Given the description of an element on the screen output the (x, y) to click on. 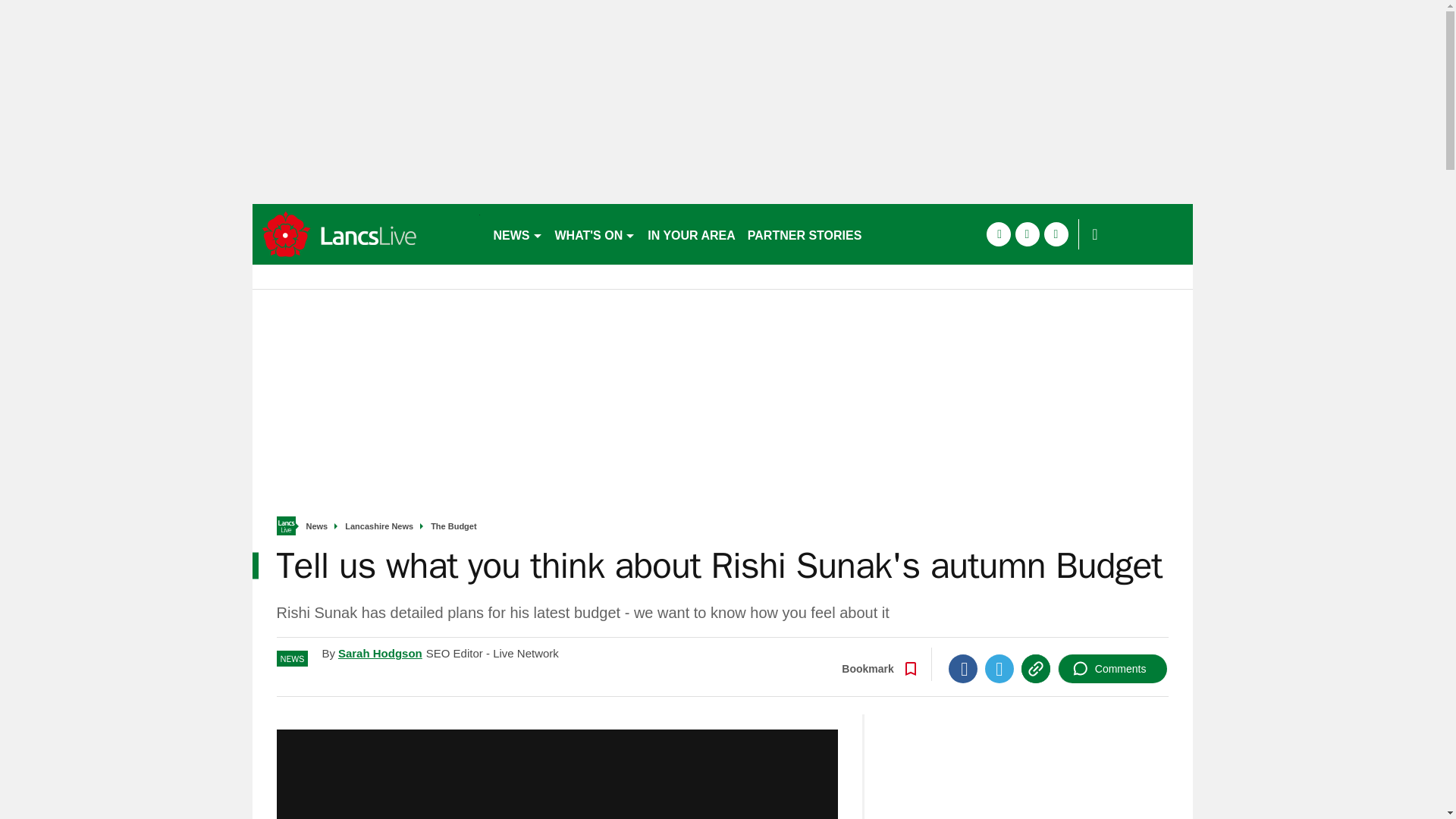
twitter (1026, 233)
instagram (1055, 233)
Twitter (999, 668)
Comments (1112, 668)
facebook (997, 233)
NEWS (517, 233)
WHAT'S ON (595, 233)
PARTNER STORIES (804, 233)
IN YOUR AREA (691, 233)
accrington (365, 233)
